Given the description of an element on the screen output the (x, y) to click on. 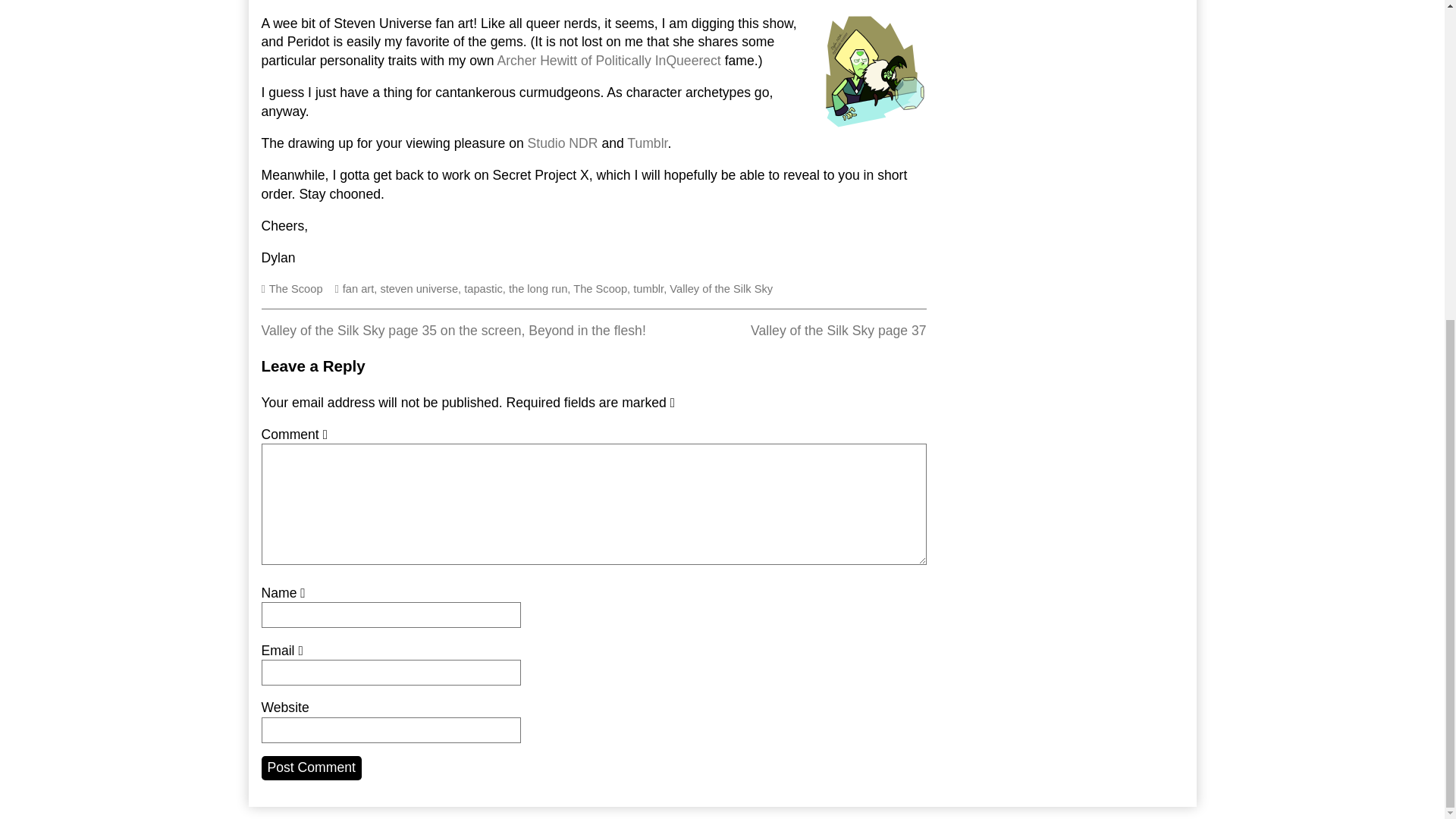
The Scoop (296, 288)
tumblr (648, 288)
steven universe (419, 288)
fan art (838, 330)
Valley of the Silk Sky (358, 288)
the long run (721, 288)
Post Comment (537, 288)
The Scoop (310, 767)
